Given the description of an element on the screen output the (x, y) to click on. 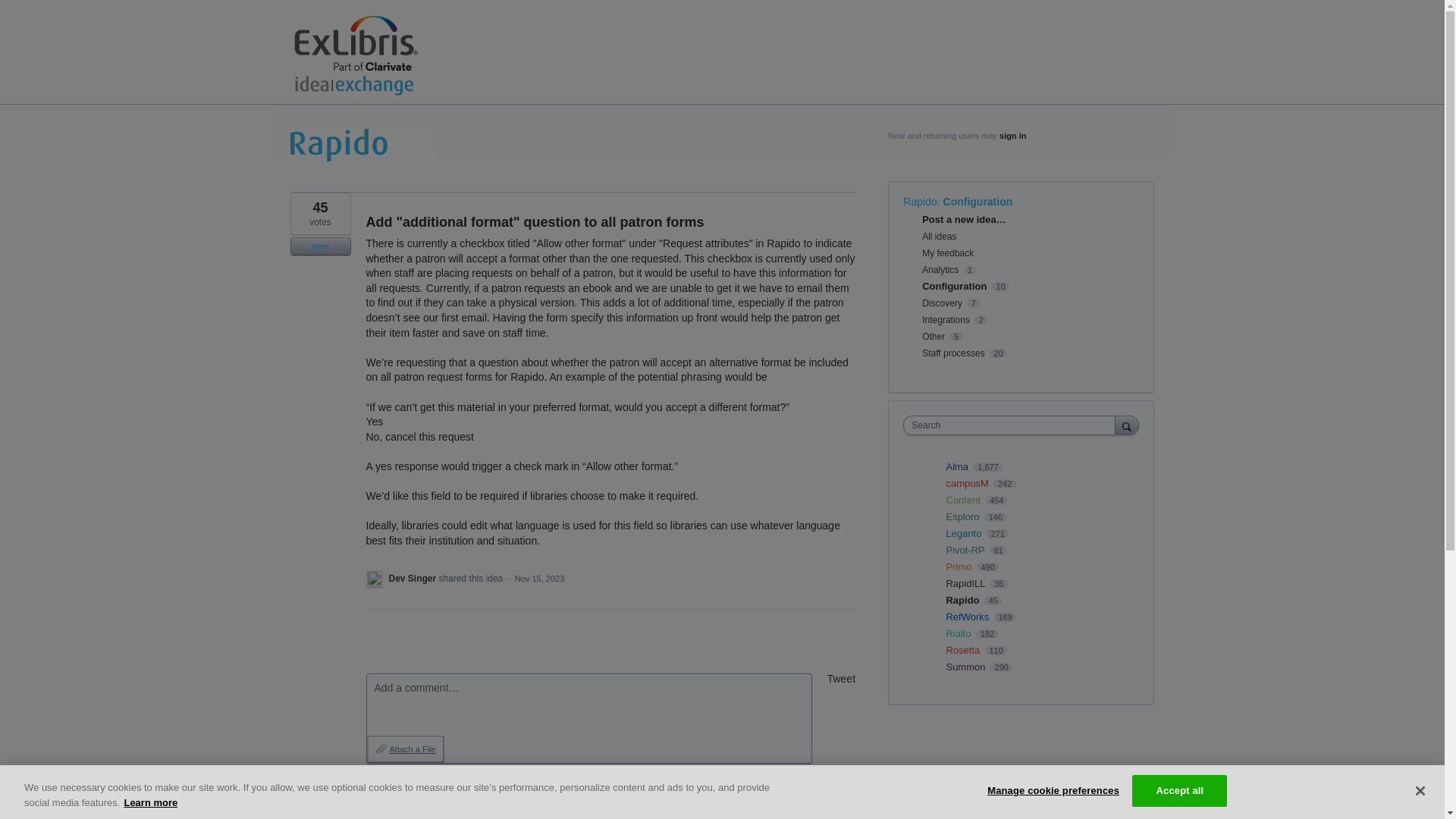
Google sign in (552, 796)
Facebook (425, 796)
Vote (319, 246)
Facebook (419, 796)
Dev Singer (413, 578)
Attach a File (405, 748)
Tweet (841, 678)
Have an idea for Ex Libris? (365, 56)
Google (552, 796)
Facebook sign in (425, 796)
